Given the description of an element on the screen output the (x, y) to click on. 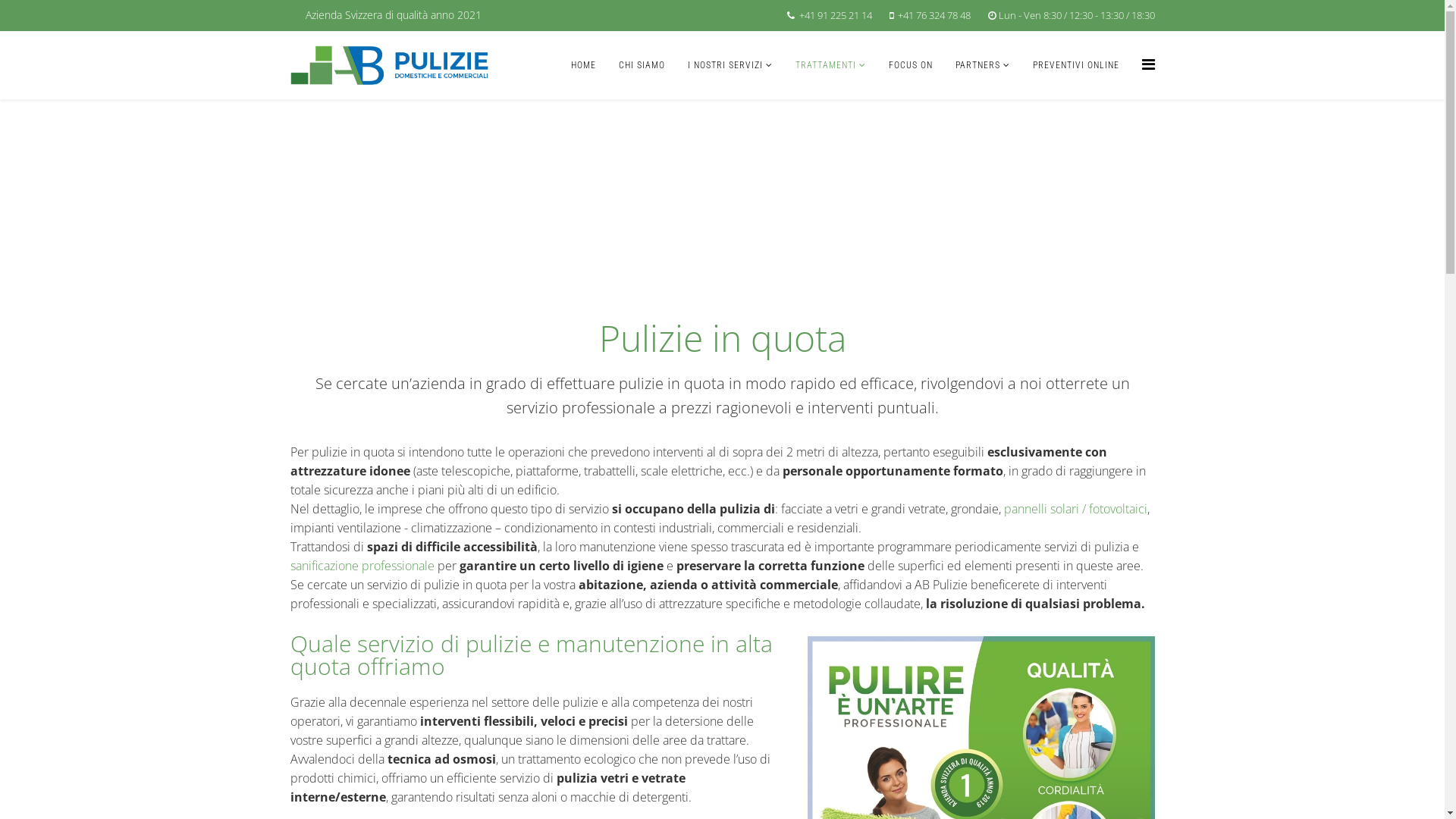
sanificazione professionale Element type: text (361, 565)
PARTNERS Element type: text (981, 65)
FOCUS ON Element type: text (909, 65)
CHI SIAMO Element type: text (640, 65)
+41 91 225 21 14 Element type: text (835, 15)
TRATTAMENTI Element type: text (830, 65)
+41 76 324 78 48 Element type: text (933, 15)
pannelli solari / fotovoltaici Element type: text (1075, 508)
HOME Element type: text (583, 65)
I NOSTRI SERVIZI Element type: text (730, 65)
PREVENTIVI ONLINE Element type: text (1074, 65)
